Given the description of an element on the screen output the (x, y) to click on. 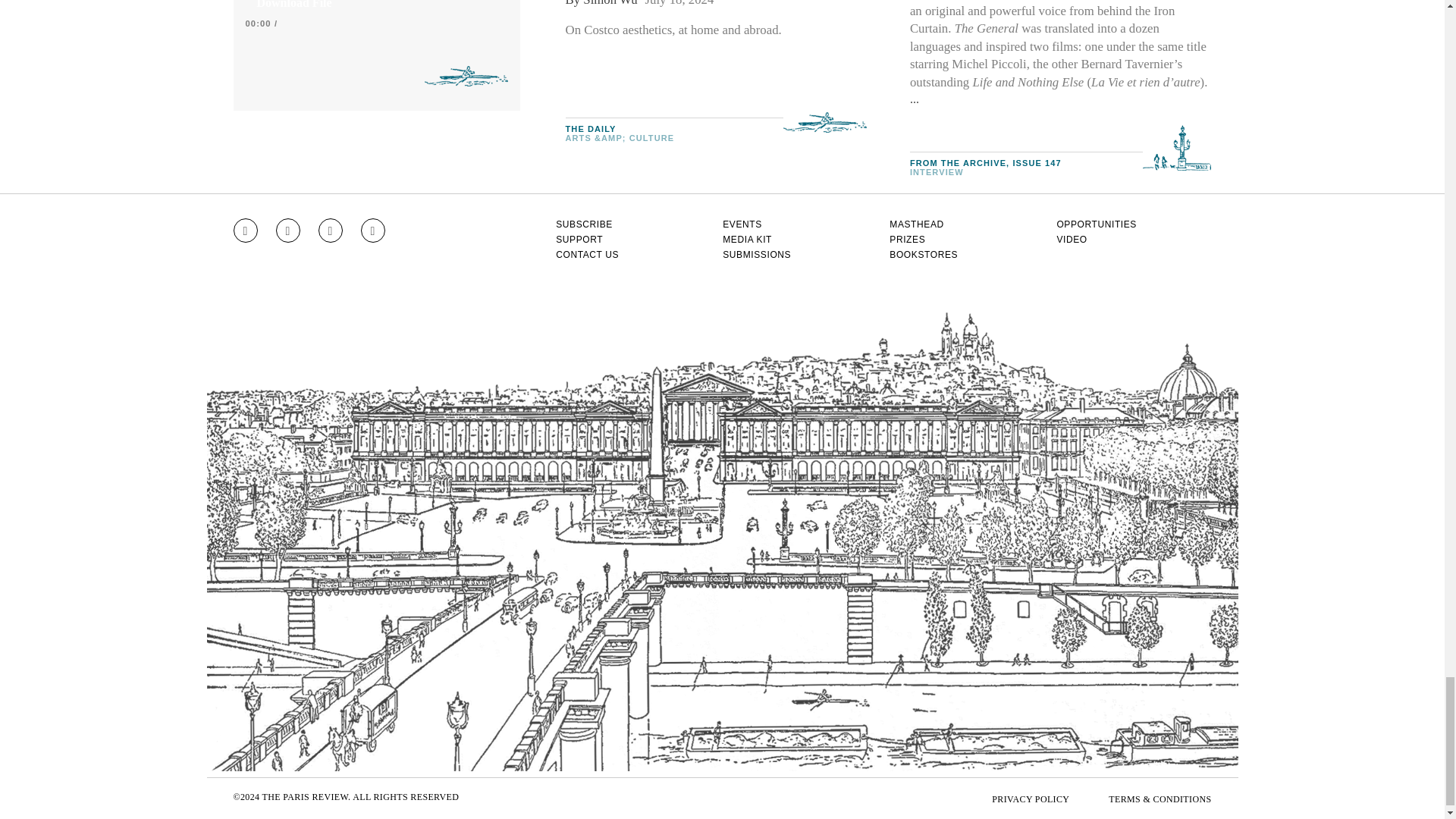
Go to Instagram feed (244, 230)
Go to Facebook page (287, 230)
Go to RSS feed (373, 230)
Go to Twitter feed (330, 230)
